Given the description of an element on the screen output the (x, y) to click on. 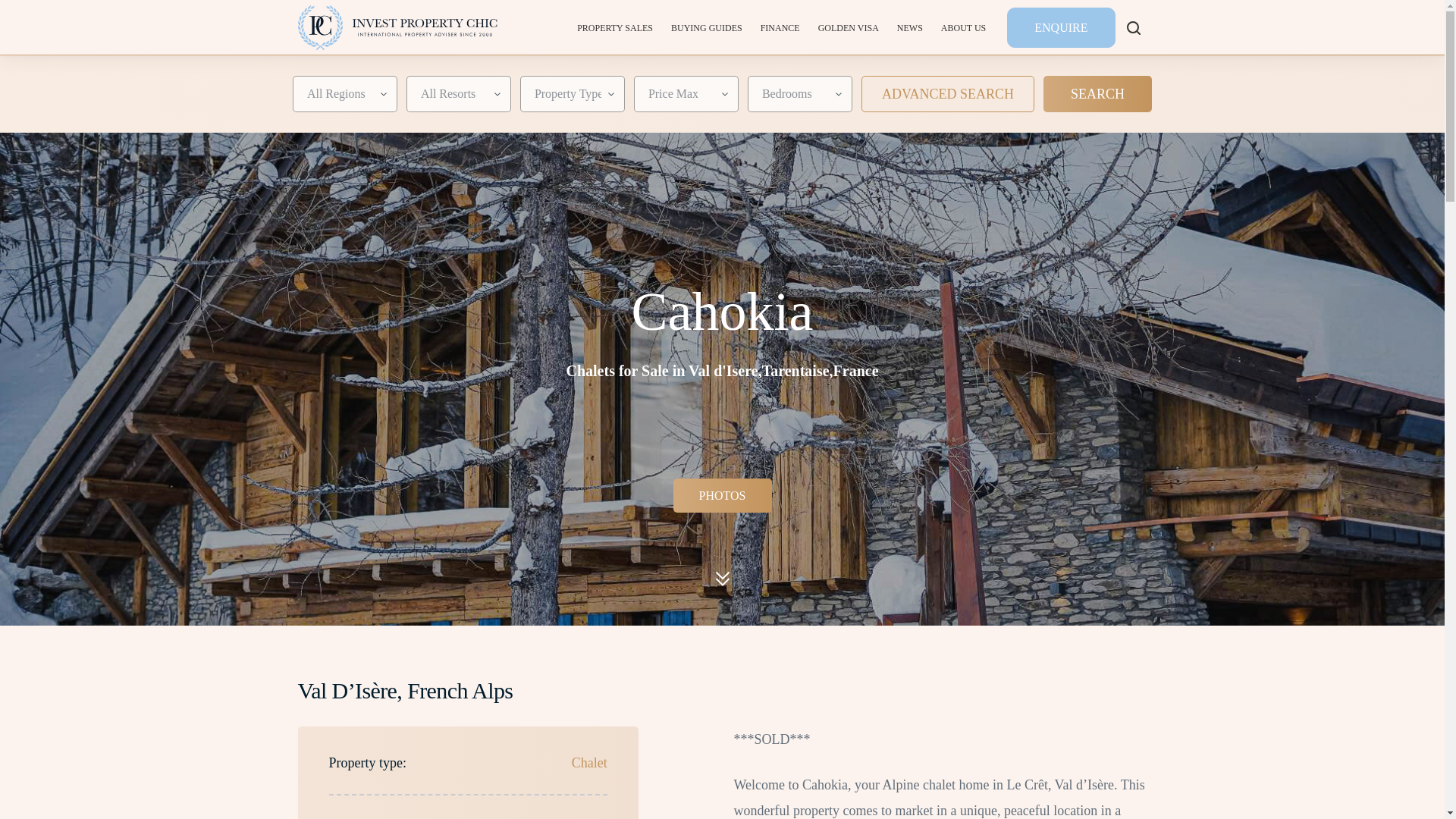
Invest Property Chic (396, 26)
PROPERTY SALES (614, 27)
ENQUIRE (1061, 27)
GOLDEN VISA (848, 27)
BUYING GUIDES (706, 27)
ABOUT US (962, 27)
ADVANCED SEARCH (947, 94)
SEARCH (1097, 94)
FINANCE (780, 27)
